Given the description of an element on the screen output the (x, y) to click on. 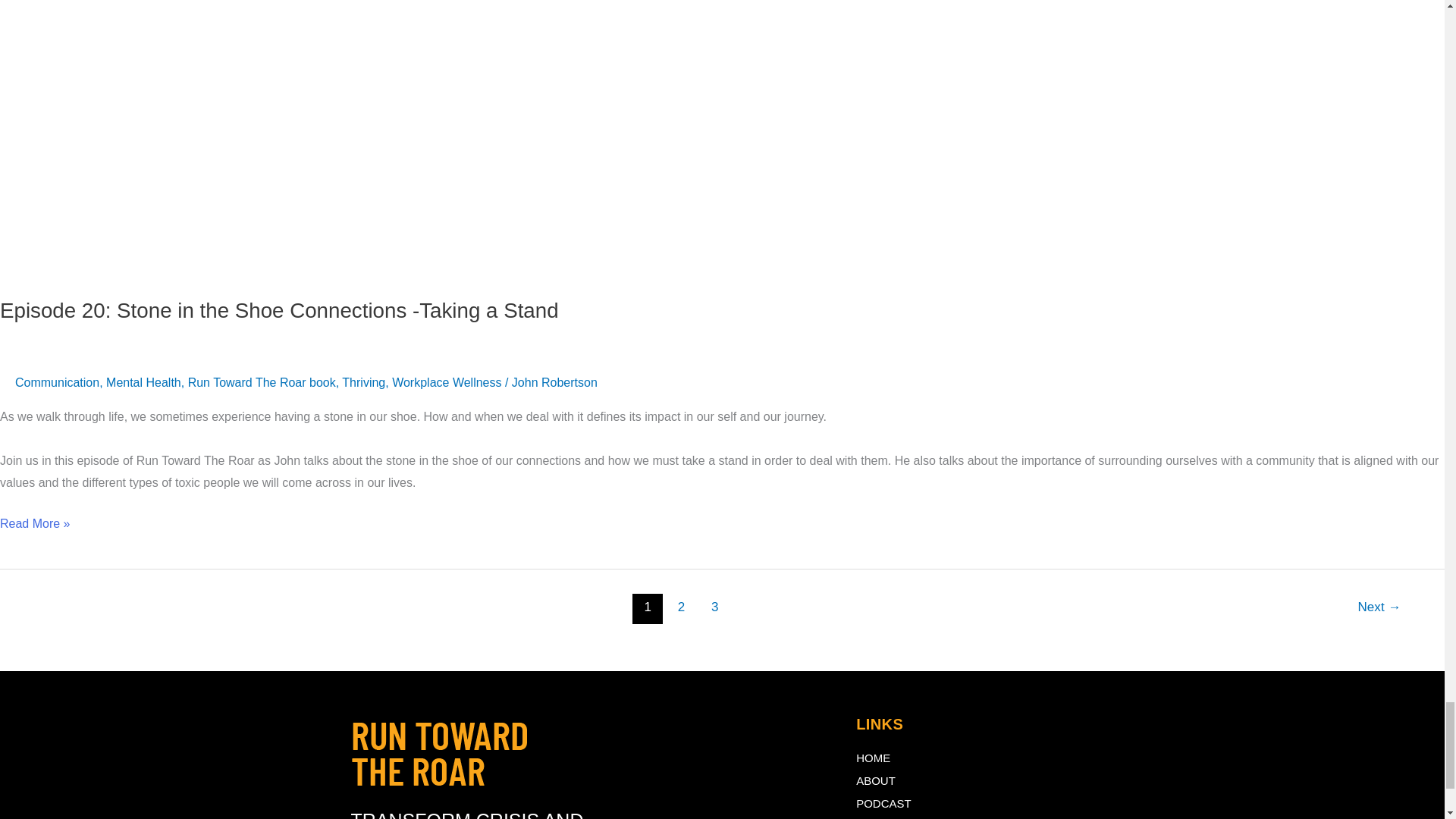
View all posts by John Robertson (554, 382)
